Given the description of an element on the screen output the (x, y) to click on. 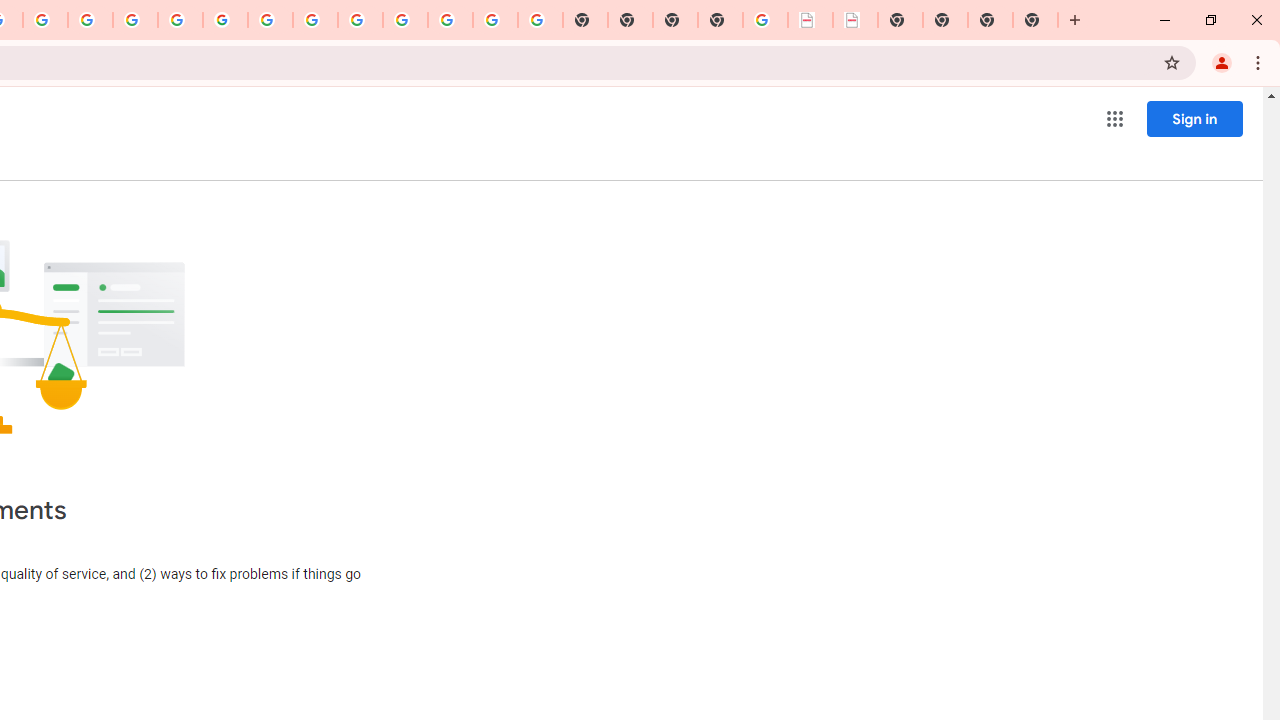
Privacy Help Center - Policies Help (89, 20)
YouTube (270, 20)
Google Images (540, 20)
